Given the description of an element on the screen output the (x, y) to click on. 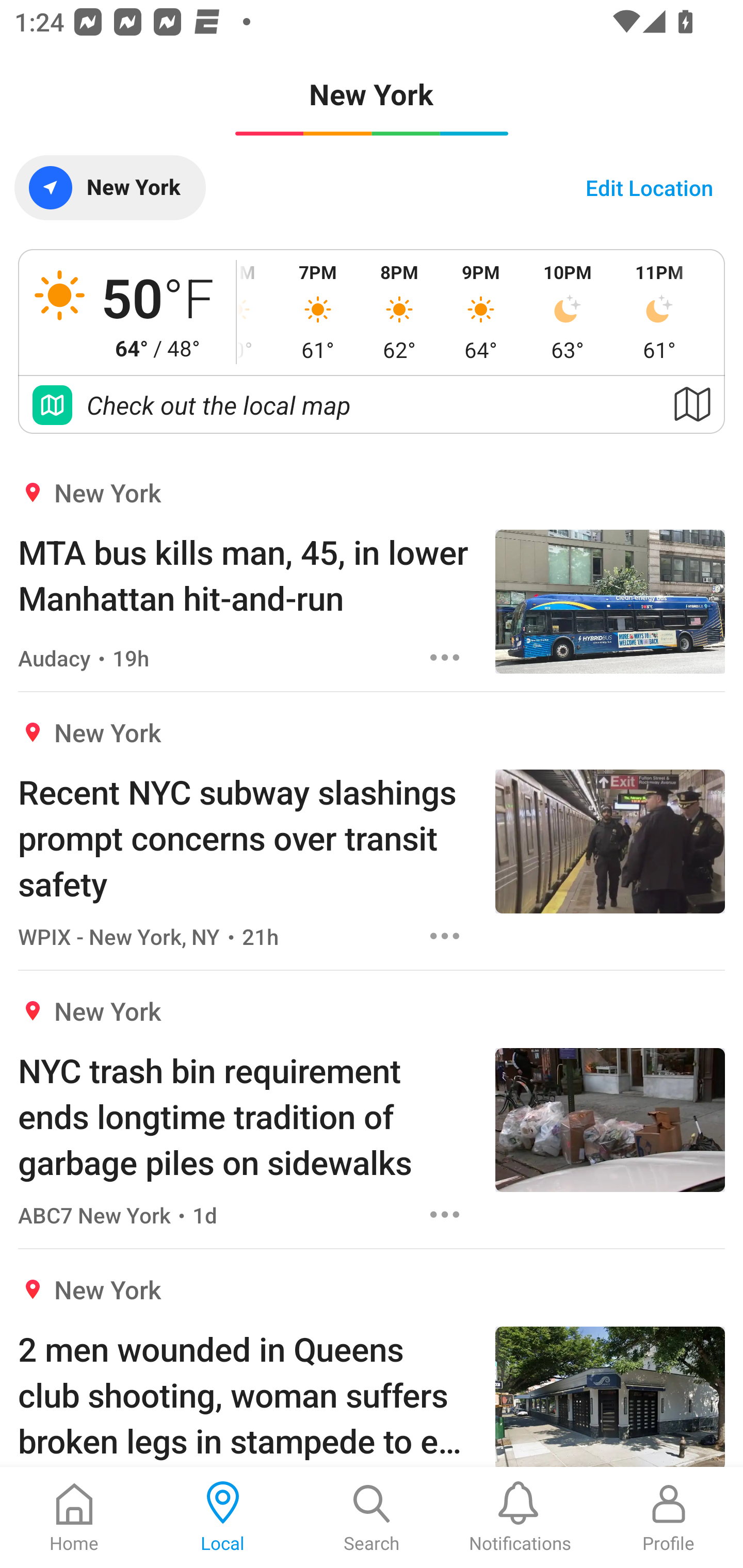
New York (109, 187)
Edit Location (648, 187)
7PM 61° (317, 311)
8PM 62° (398, 311)
9PM 64° (480, 311)
10PM 63° (567, 311)
11PM 61° (659, 311)
Check out the local map (371, 405)
Options (444, 657)
Options (444, 936)
Options (444, 1214)
Home (74, 1517)
Search (371, 1517)
Notifications (519, 1517)
Profile (668, 1517)
